Given the description of an element on the screen output the (x, y) to click on. 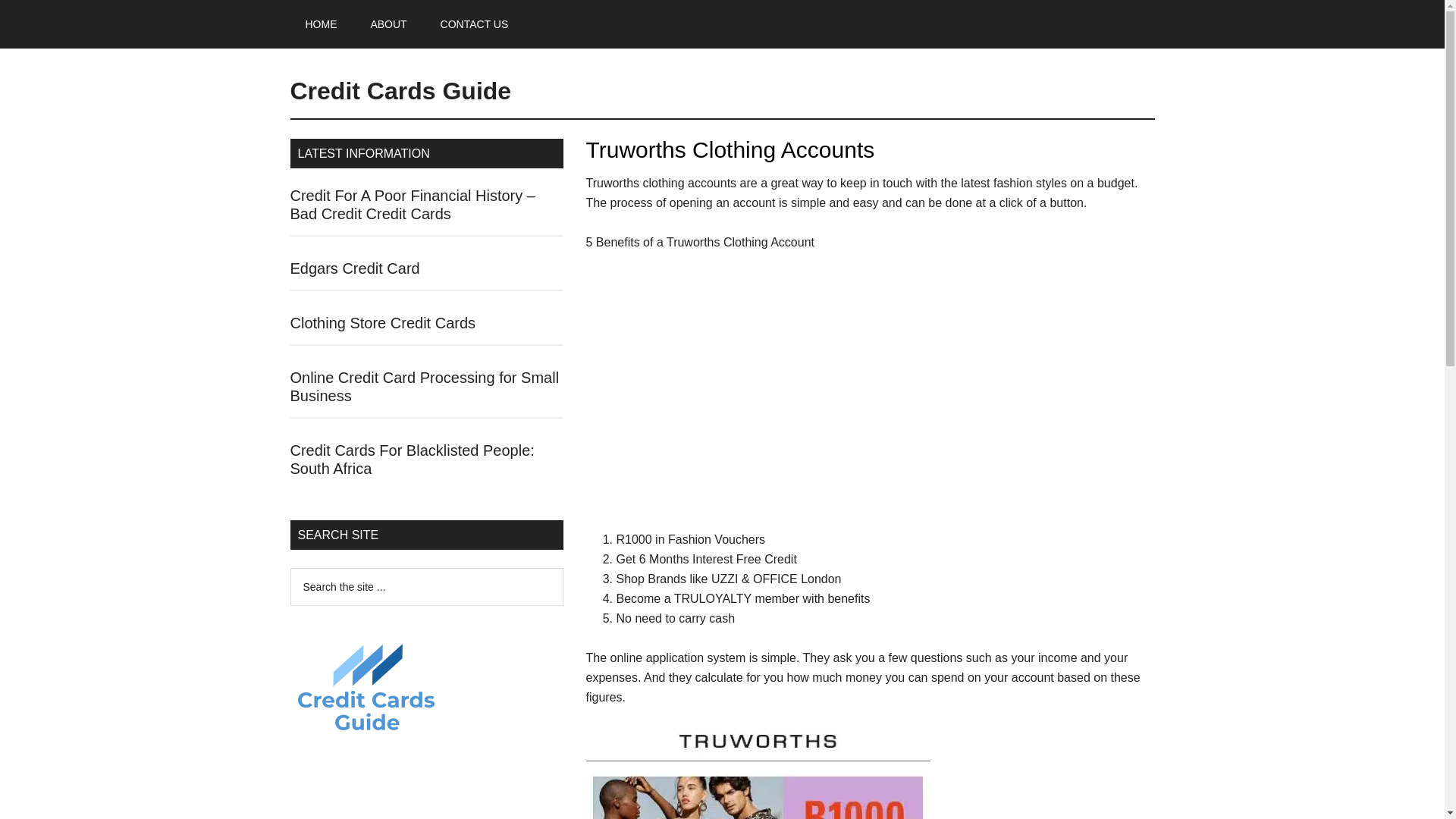
Advertisement (869, 397)
HOME (320, 24)
Clothing Store Credit Cards (382, 322)
CONTACT US (474, 24)
Edgars Credit Card (354, 268)
ABOUT (388, 24)
Online Credit Card Processing for Small Business (424, 386)
